Given the description of an element on the screen output the (x, y) to click on. 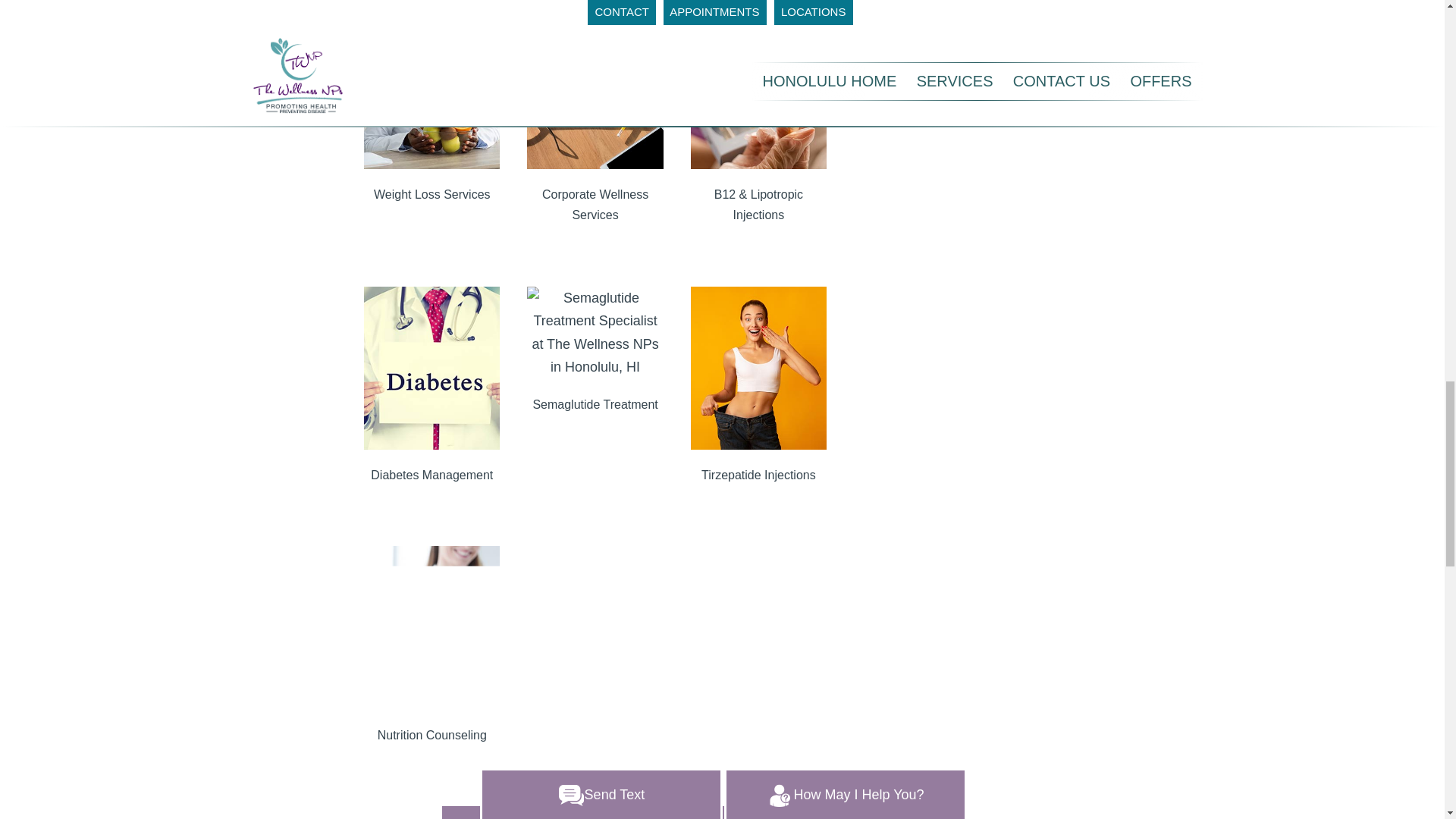
Corporate Wellness Services (594, 204)
Tirzepatide Injections (758, 474)
Semaglutide Treatment (595, 404)
Weight Loss Services (432, 194)
Diabetes Management (432, 474)
